Given the description of an element on the screen output the (x, y) to click on. 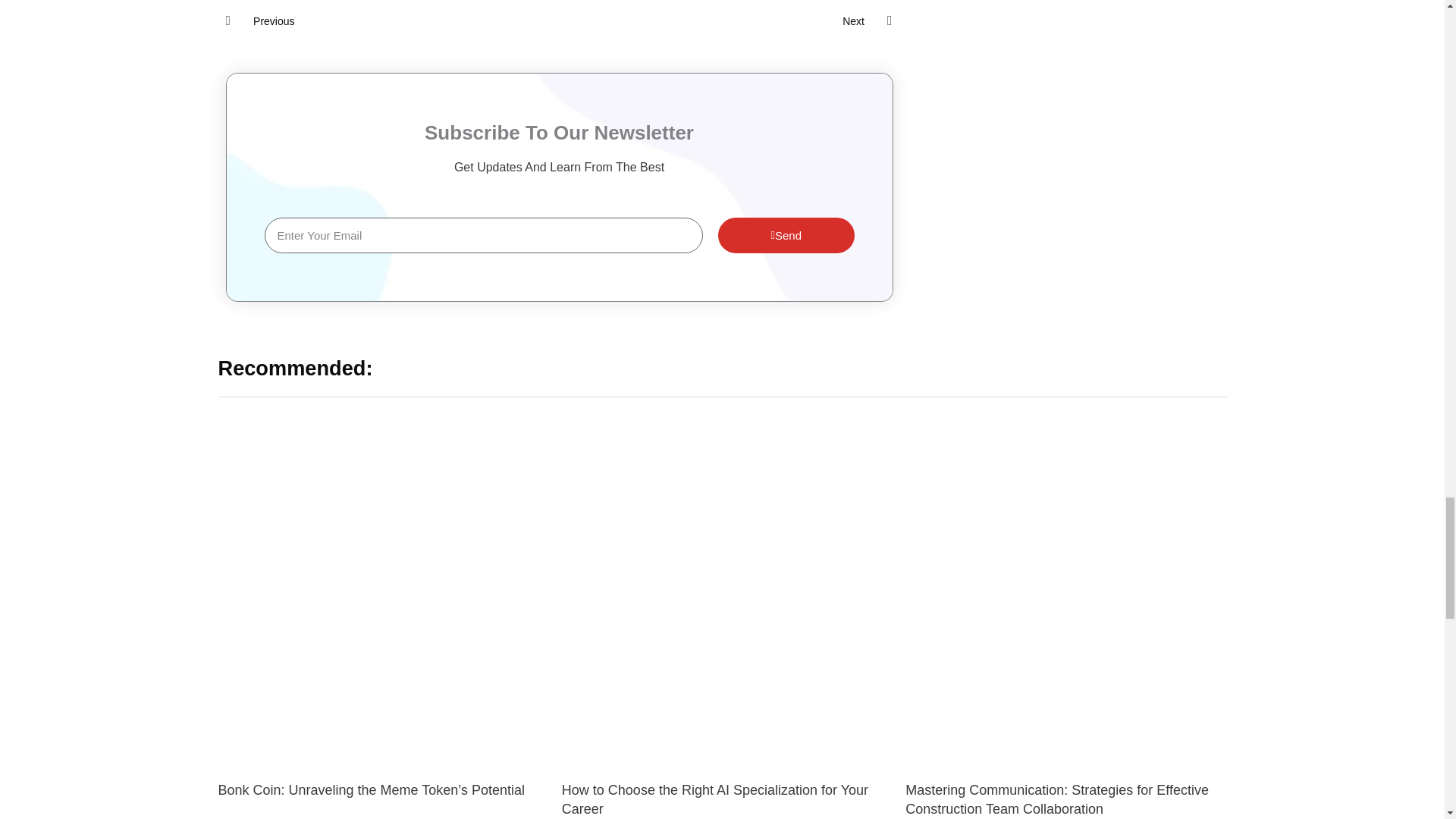
Send (725, 21)
